Given the description of an element on the screen output the (x, y) to click on. 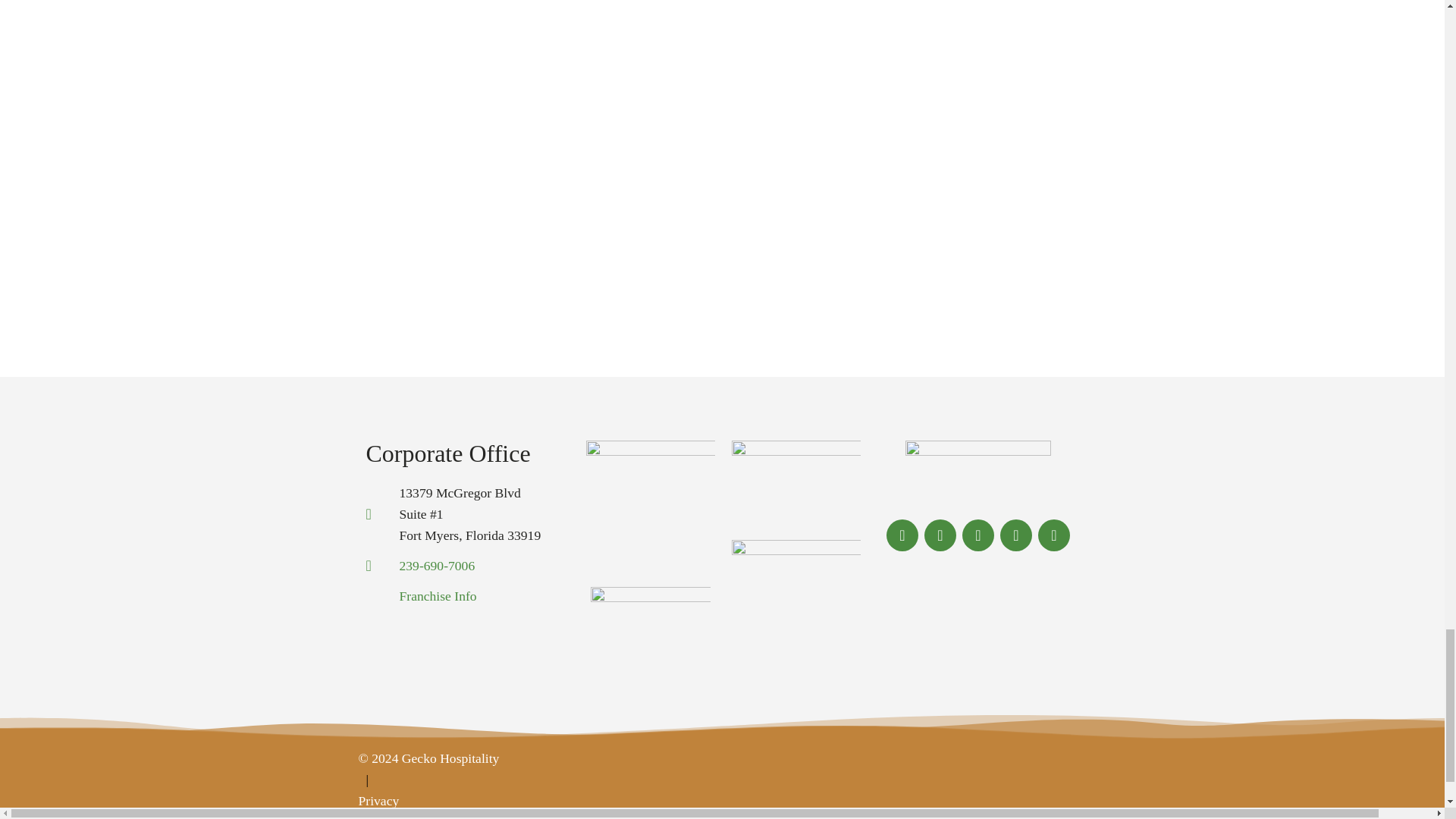
Follow Gecko Hospitality on Twitter (940, 535)
Follow Gecko Hospitality on Twitter (940, 535)
Subscribe to Gecko Hospitality on YouTube (1054, 535)
Follow Gecko Hospitality on Facebook (902, 535)
Subscribe to Gecko Hospitality on YouTube (1054, 535)
Follow Gecko Hospitality on Facebook (902, 535)
Connect with Gecko Hospitality on LinkedIn (978, 535)
Connect with Gecko Hospitality on LinkedIn (978, 535)
